Given the description of an element on the screen output the (x, y) to click on. 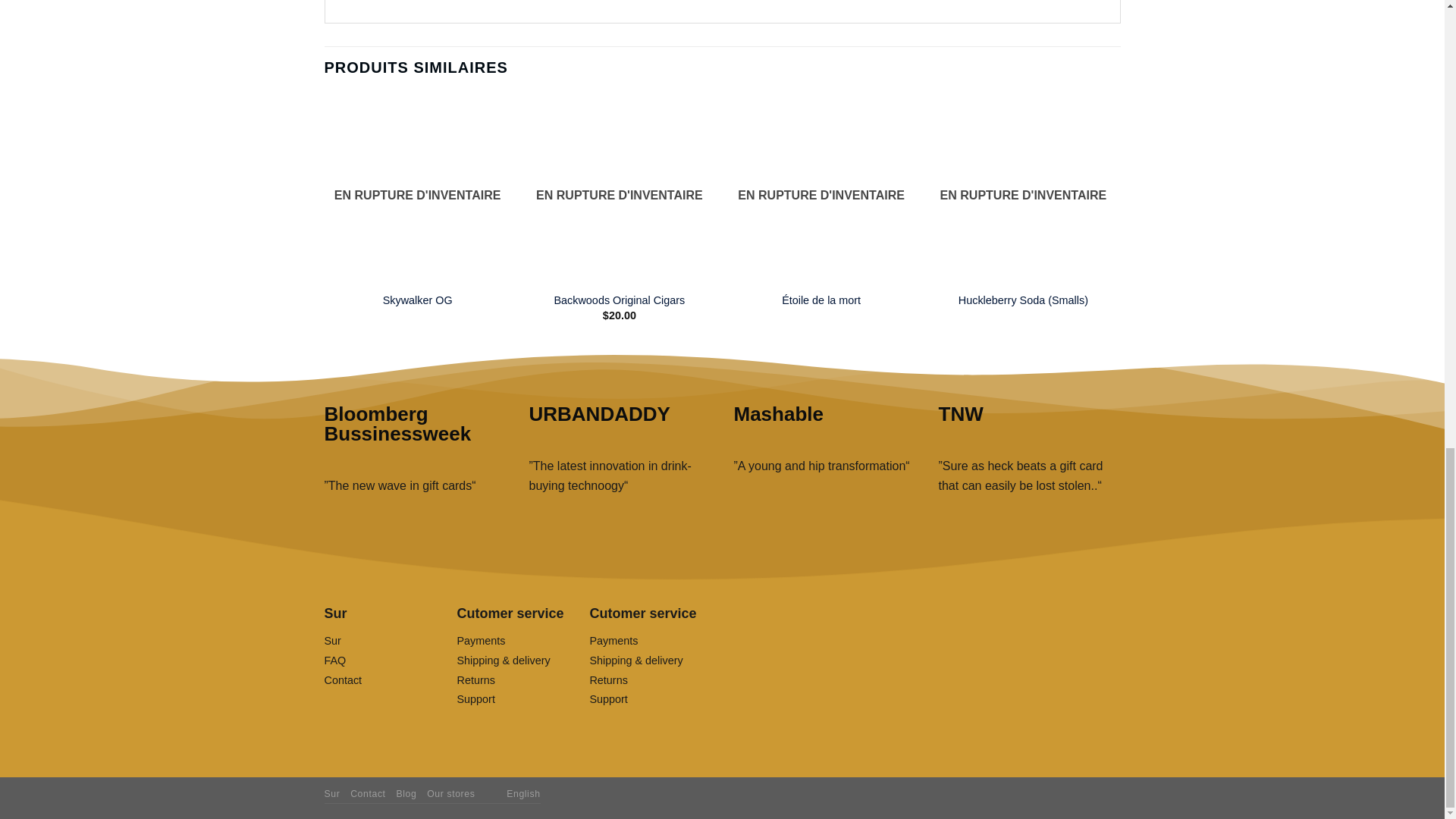
English (495, 792)
